Given the description of an element on the screen output the (x, y) to click on. 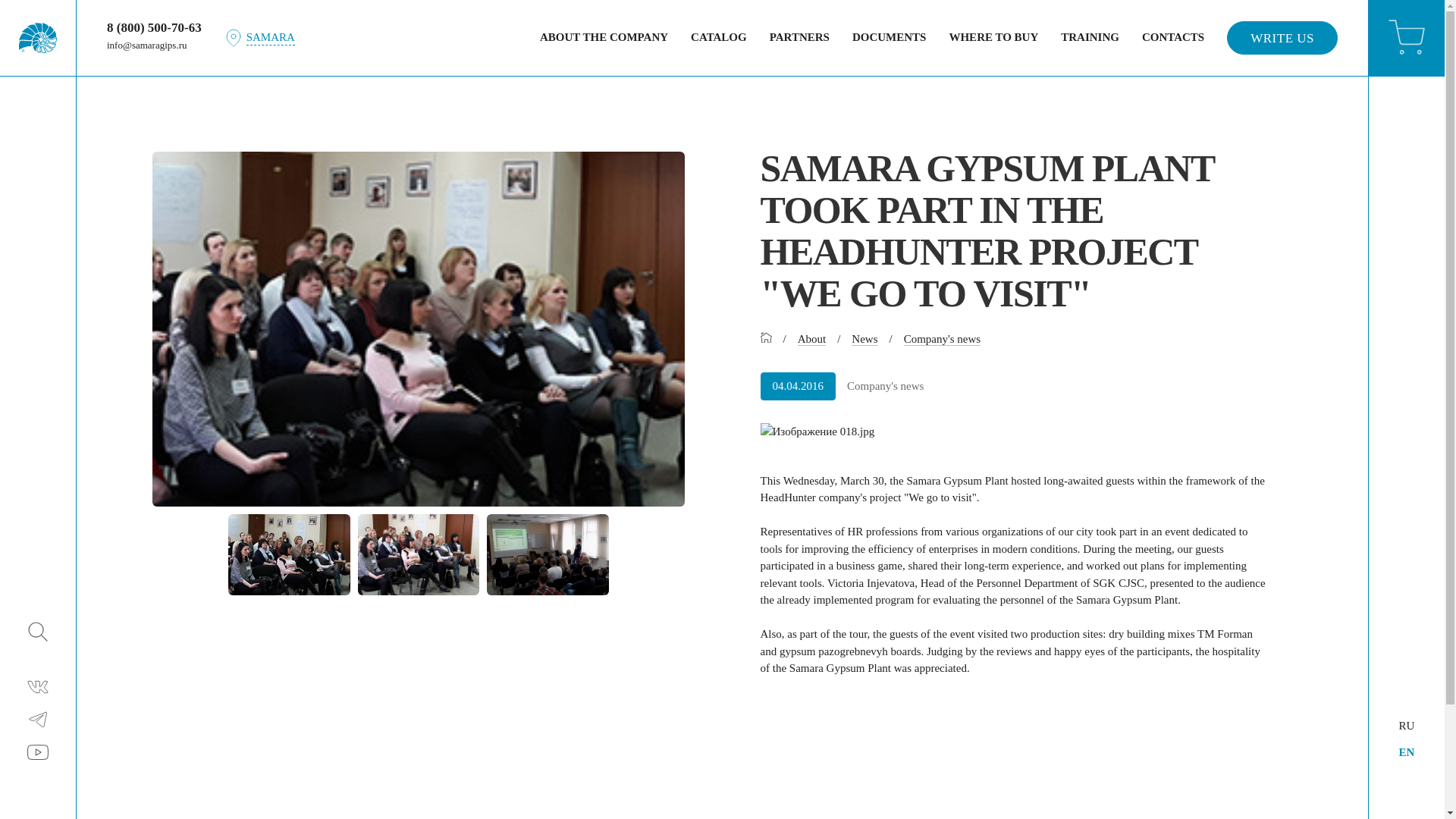
News (864, 338)
Company's news (941, 338)
About (812, 338)
Home (765, 338)
ABOUT THE COMPANY (604, 37)
SAMARA (259, 37)
CATALOG (718, 37)
